Given the description of an element on the screen output the (x, y) to click on. 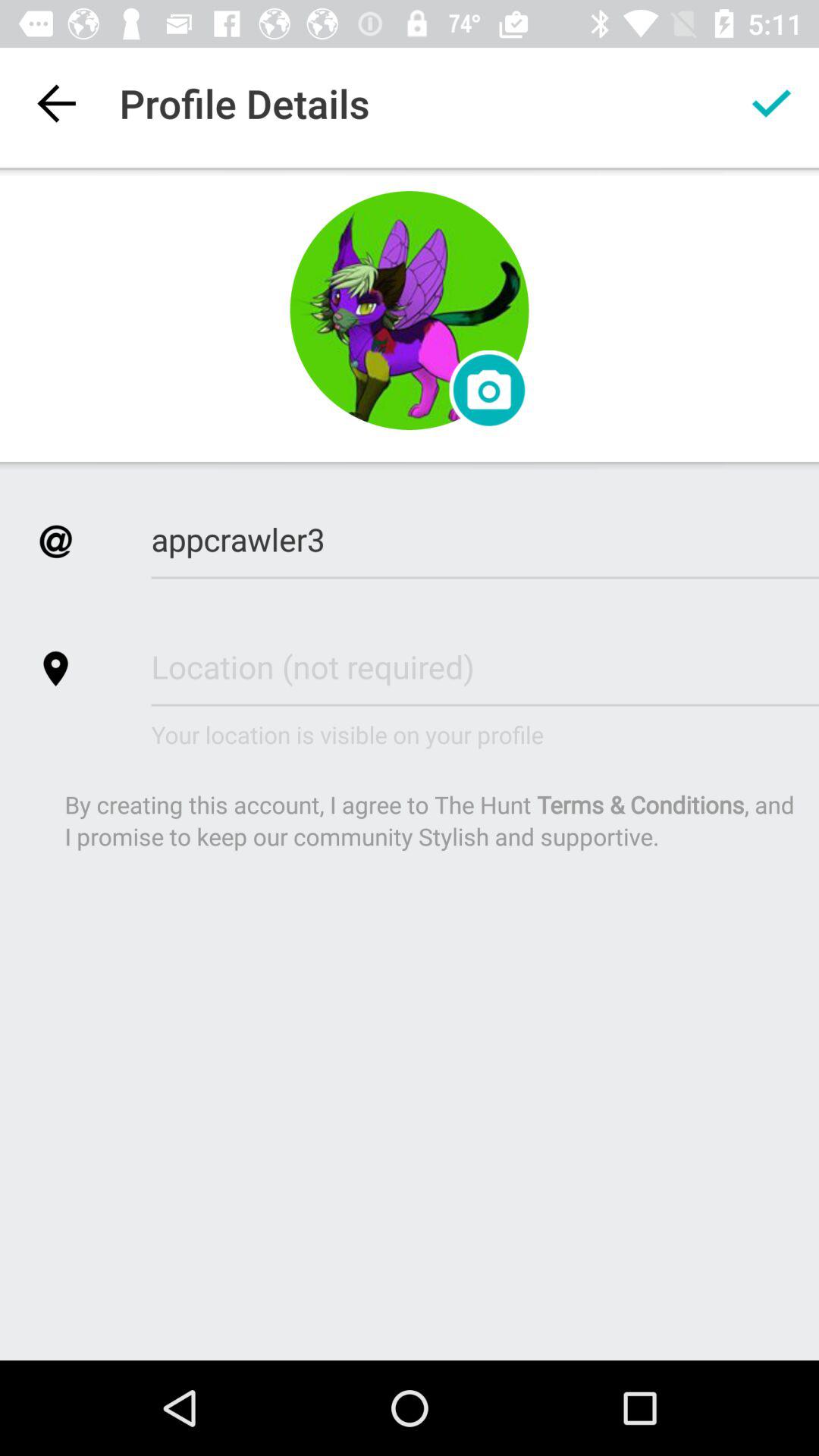
profile detail save button (771, 103)
